Given the description of an element on the screen output the (x, y) to click on. 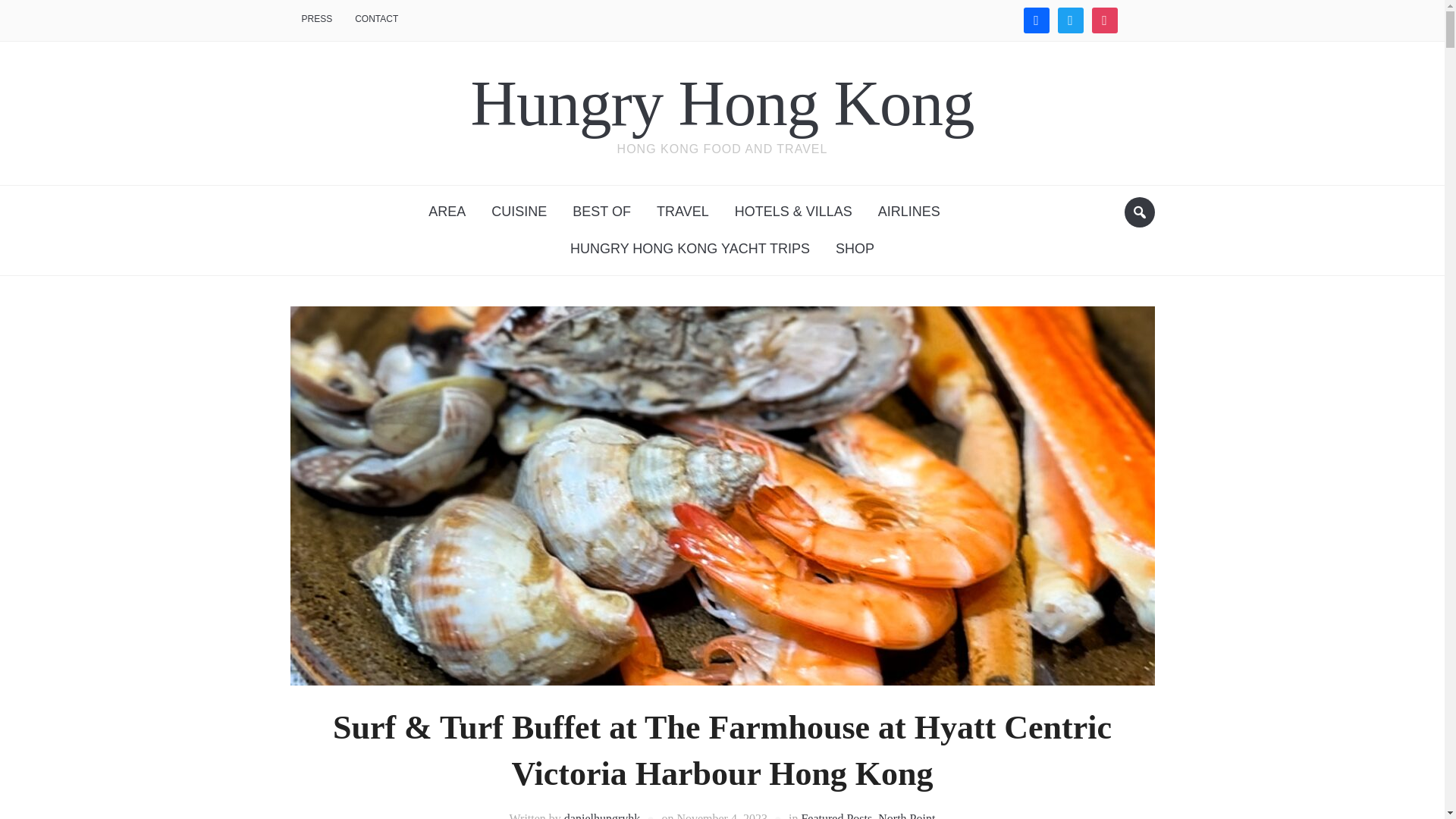
Search (1139, 212)
Follow Me (1070, 19)
Friend me on Facebook (1036, 19)
Hong Kong Food and Travel (722, 102)
facebook (1036, 19)
PRESS (316, 19)
WordPress (1138, 19)
Hungry Hong Kong (722, 102)
Posts by danielhungryhk (602, 815)
instagram (1105, 19)
